Given the description of an element on the screen output the (x, y) to click on. 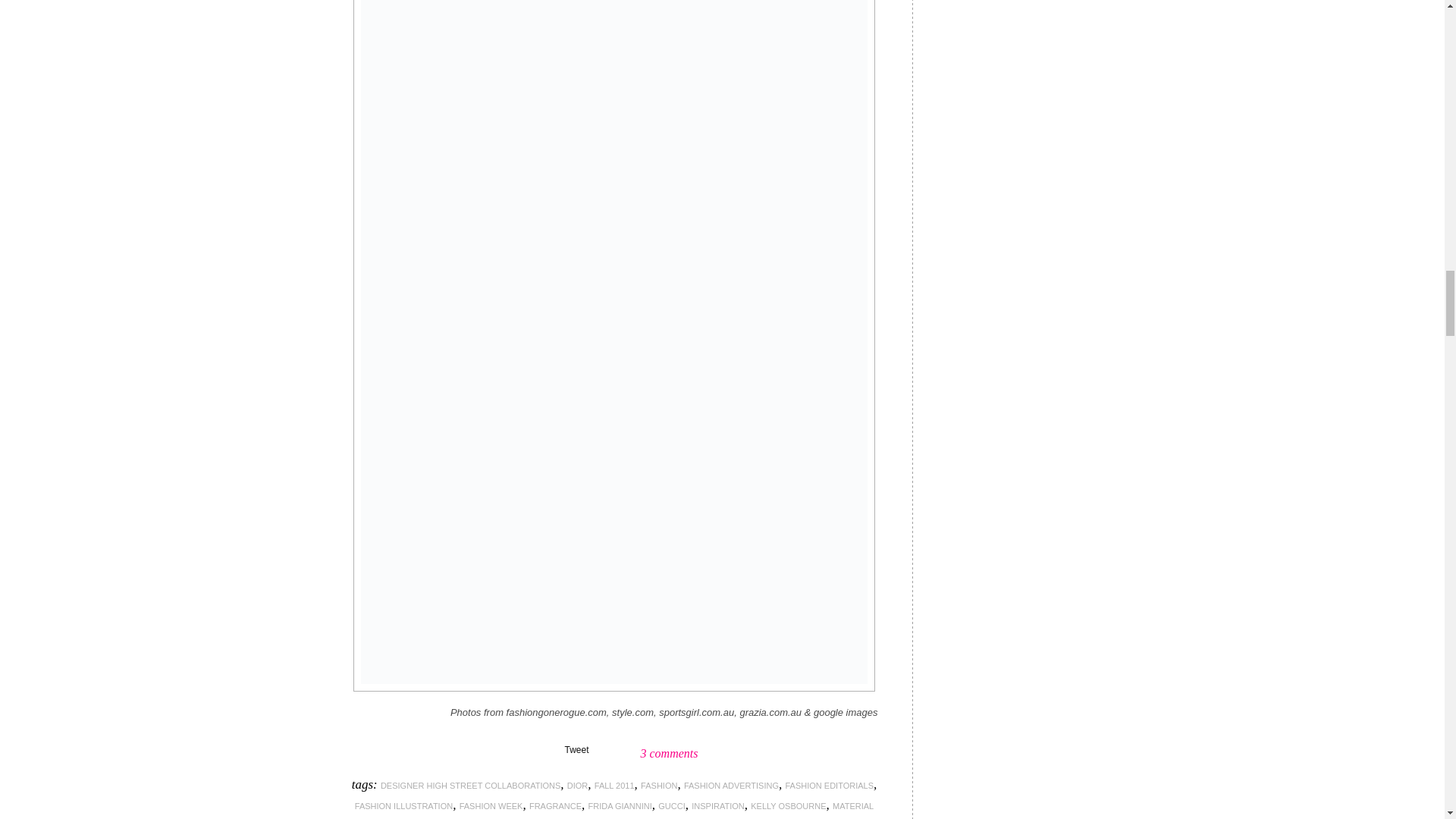
Tweet (576, 749)
FASHION (658, 785)
FALL 2011 (614, 785)
3 comments (668, 753)
FASHION ADVERTISING (731, 785)
FASHION ILLUSTRATION (403, 805)
FASHION WEEK (491, 805)
FRAGRANCE (554, 805)
DESIGNER HIGH STREET COLLABORATIONS (470, 785)
DIOR (577, 785)
FASHION EDITORIALS (830, 785)
